Given the description of an element on the screen output the (x, y) to click on. 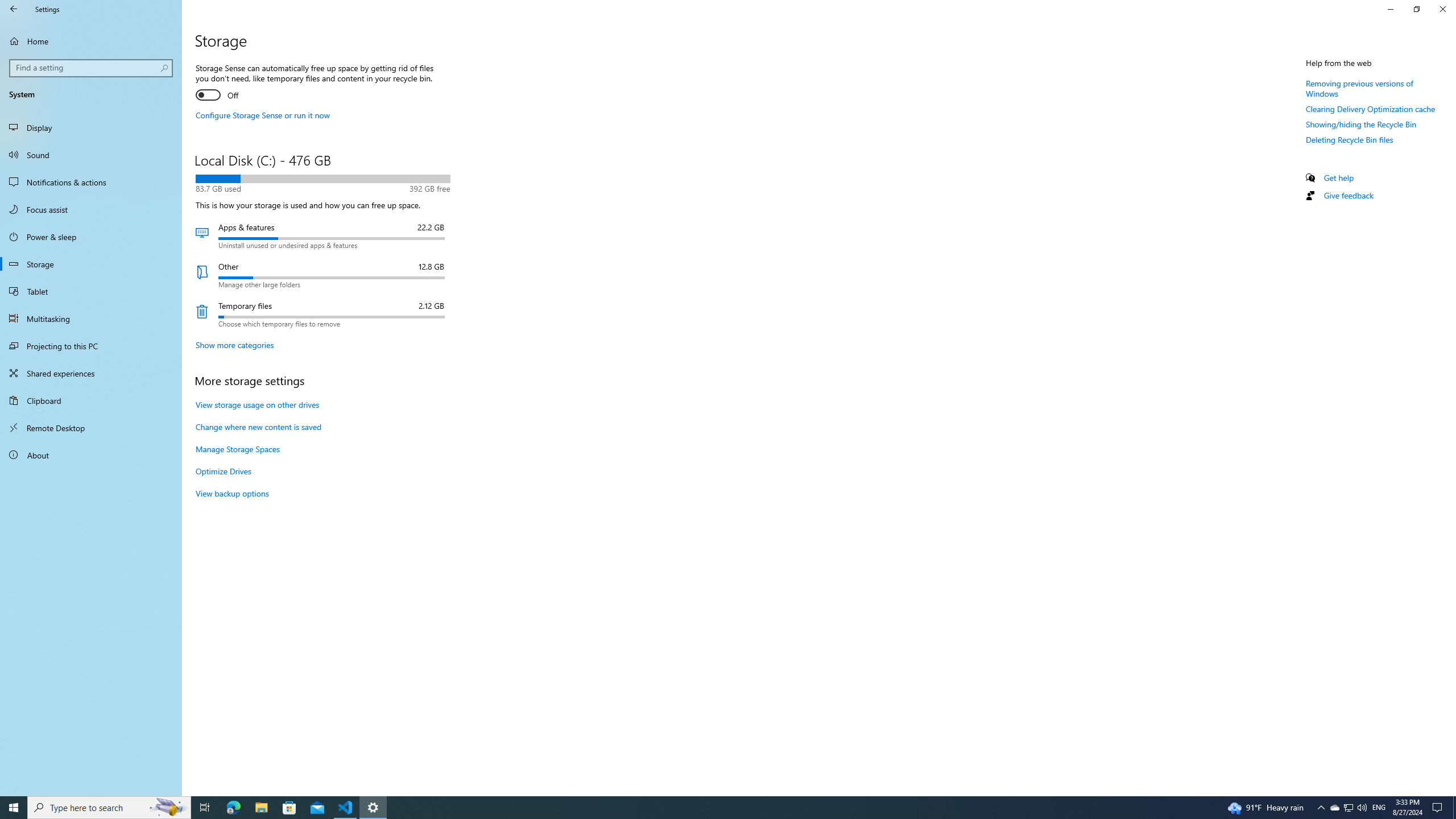
Display (91, 126)
Shared experiences (91, 372)
Temporary files (322, 314)
Notification Chevron (1320, 807)
Close Settings (1442, 9)
Projecting to this PC (91, 345)
Restore Settings (1416, 9)
Apps & features (322, 235)
Notifications & actions (91, 181)
View backup options (232, 493)
View storage usage on other drives (257, 404)
Running applications (706, 807)
About (91, 454)
Microsoft Store (289, 807)
